Given the description of an element on the screen output the (x, y) to click on. 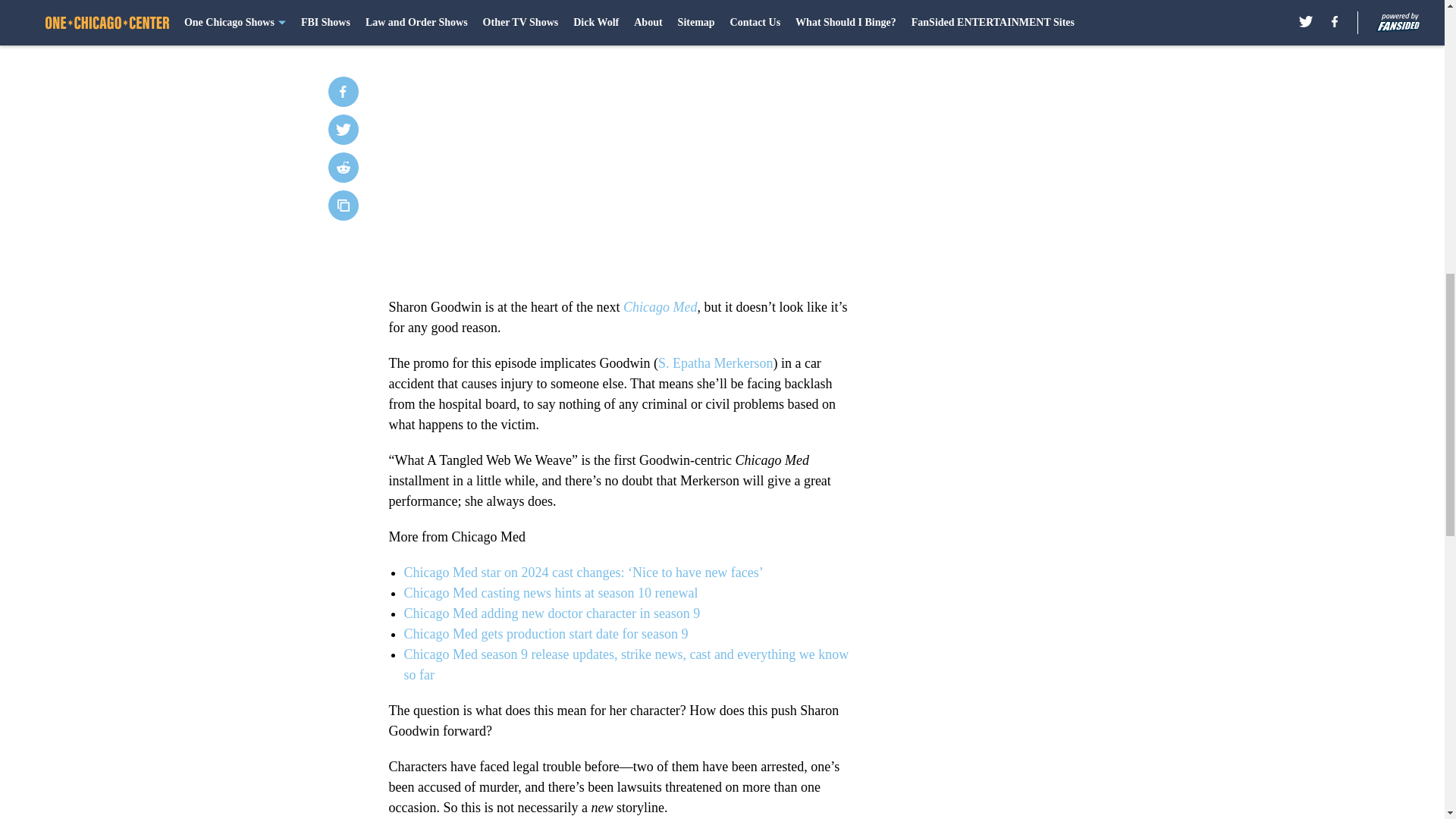
Chicago Med (660, 306)
Chicago Med adding new doctor character in season 9 (551, 613)
Chicago Med casting news hints at season 10 renewal (550, 592)
Chicago Med gets production start date for season 9 (545, 633)
S. Epatha Merkerson (715, 363)
